Given the description of an element on the screen output the (x, y) to click on. 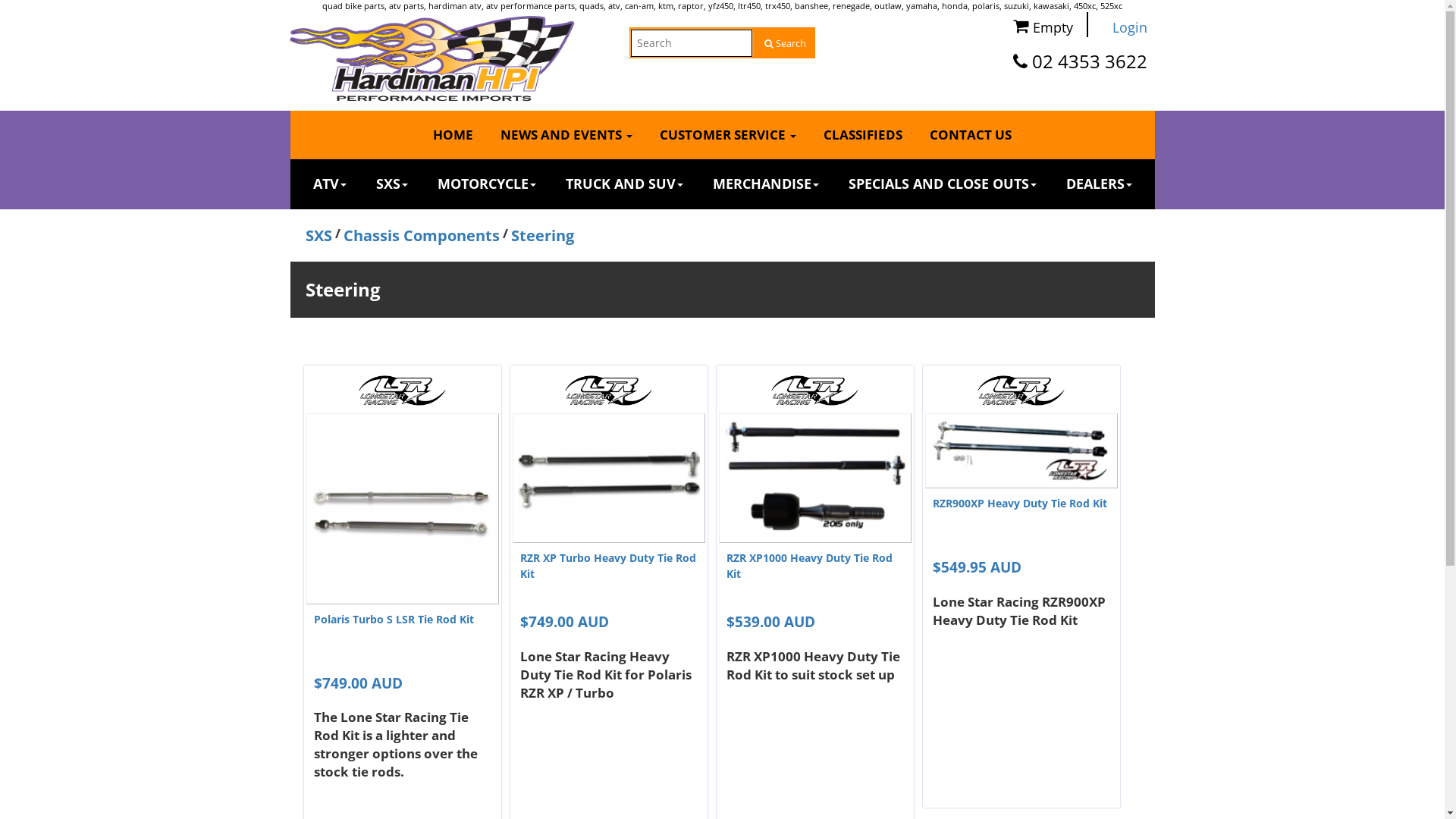
MERCHANDISE Element type: text (765, 184)
DEALERS Element type: text (1098, 184)
TRUCK AND SUV Element type: text (624, 184)
Lone Star Racing  Element type: hover (1020, 390)
Lone Star Racing  Element type: hover (608, 390)
$549.95 AUD Element type: text (976, 566)
CLASSIFIEDS Element type: text (862, 134)
SXS Element type: text (317, 235)
HOME Element type: text (452, 134)
RZR900XP Heavy Duty Tie Rod Kit Element type: text (1019, 502)
SXS Element type: text (391, 184)
CUSTOMER SERVICE Element type: text (727, 134)
Lone Star Racing  Element type: hover (401, 390)
NEWS AND EVENTS Element type: text (566, 134)
SPECIALS AND CLOSE OUTS Element type: text (941, 184)
02 4353 3622 Element type: text (1088, 60)
Steering Element type: text (542, 235)
Login Element type: text (1123, 27)
$749.00 AUD Element type: text (564, 621)
RZR XP1000 Heavy Duty Tie Rod Kit Element type: text (809, 565)
Lone Star Racing  Element type: hover (814, 390)
MOTORCYCLE Element type: text (486, 184)
Polaris Turbo S LSR Tie Rod Kit Element type: text (393, 618)
RZR XP Turbo Heavy Duty Tie Rod Kit Element type: text (608, 565)
$539.00 AUD Element type: text (770, 621)
ATV Element type: text (328, 184)
$749.00 AUD Element type: text (357, 682)
Search Element type: text (784, 43)
Chassis Components Element type: text (420, 235)
CONTACT US Element type: text (970, 134)
Hardiman ATV P/L Logo Element type: hover (431, 57)
Empty Element type: text (1041, 21)
